Given the description of an element on the screen output the (x, y) to click on. 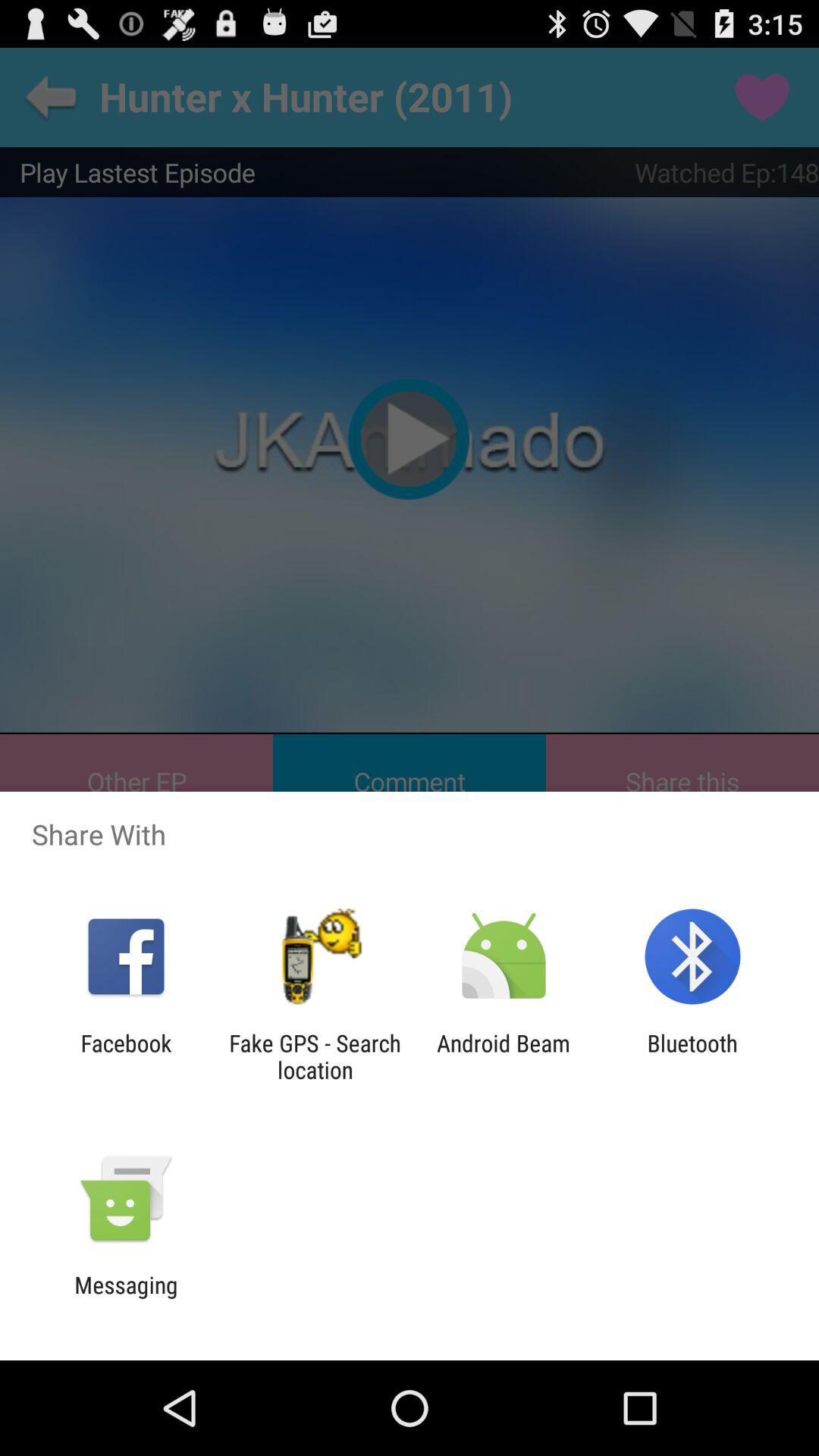
turn off app next to fake gps search app (503, 1056)
